Given the description of an element on the screen output the (x, y) to click on. 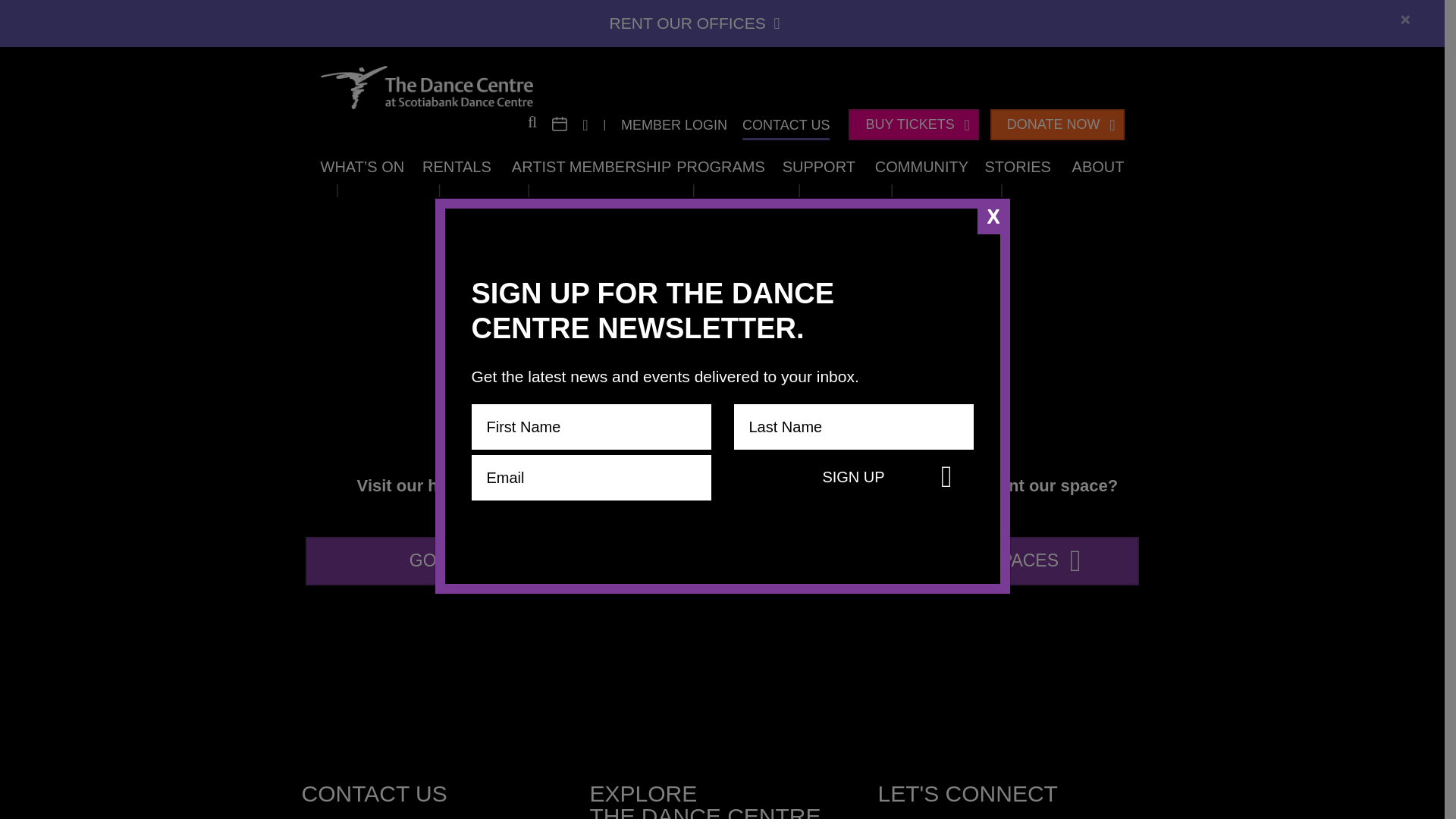
RENT OUR OFFICES (695, 22)
MEMBER LOGIN (673, 124)
DONATE NOW (1057, 124)
ARTIST MEMBERSHIP (591, 166)
RENTALS (457, 166)
CONTACT US (785, 124)
BUY TICKETS (913, 124)
PROGRAMS (721, 166)
